Given the description of an element on the screen output the (x, y) to click on. 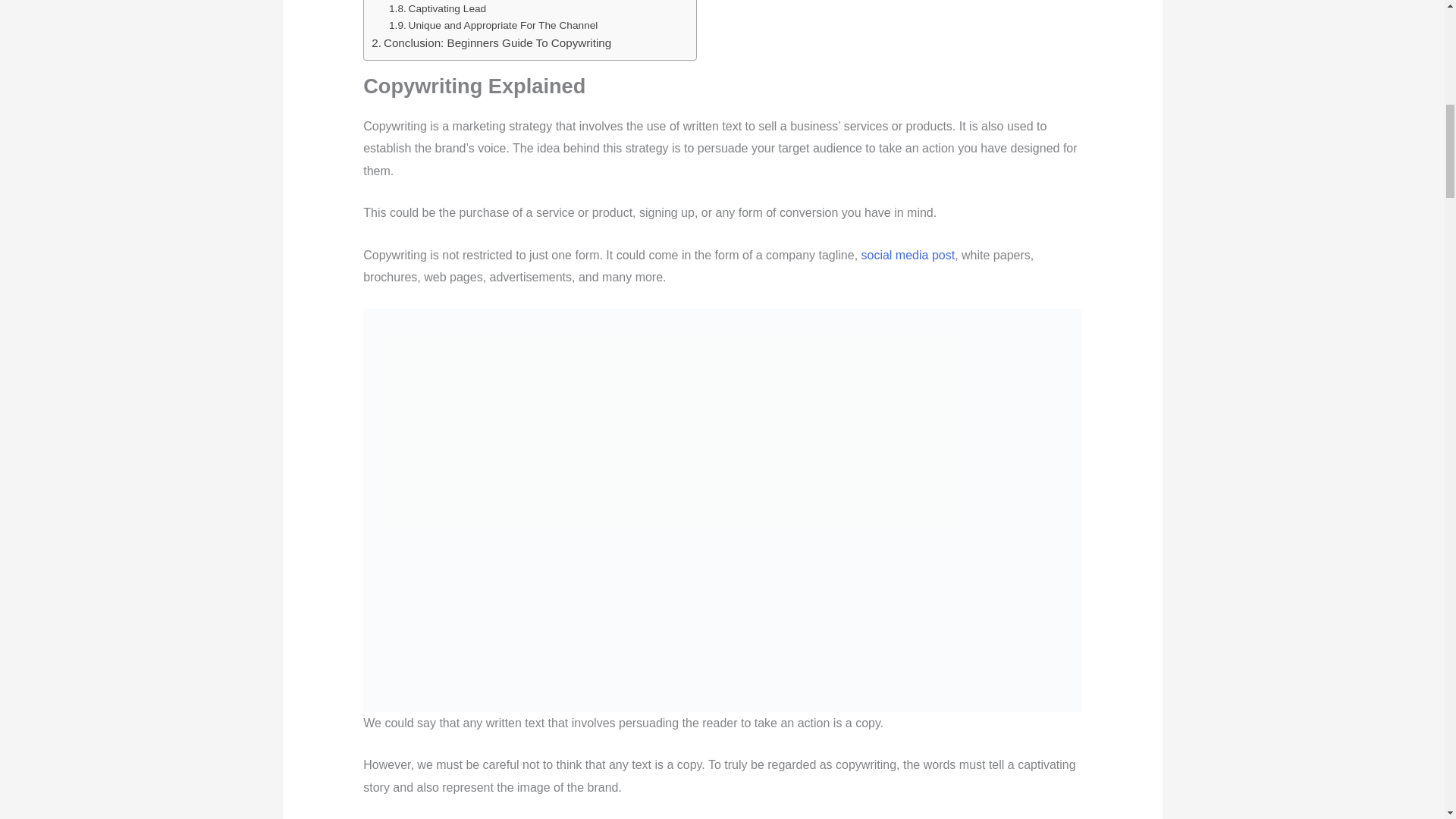
Unique and Appropriate For The Channel (492, 25)
social media post (908, 254)
Captivating Lead (437, 8)
Conclusion: Beginners Guide To Copywriting (491, 43)
